Given the description of an element on the screen output the (x, y) to click on. 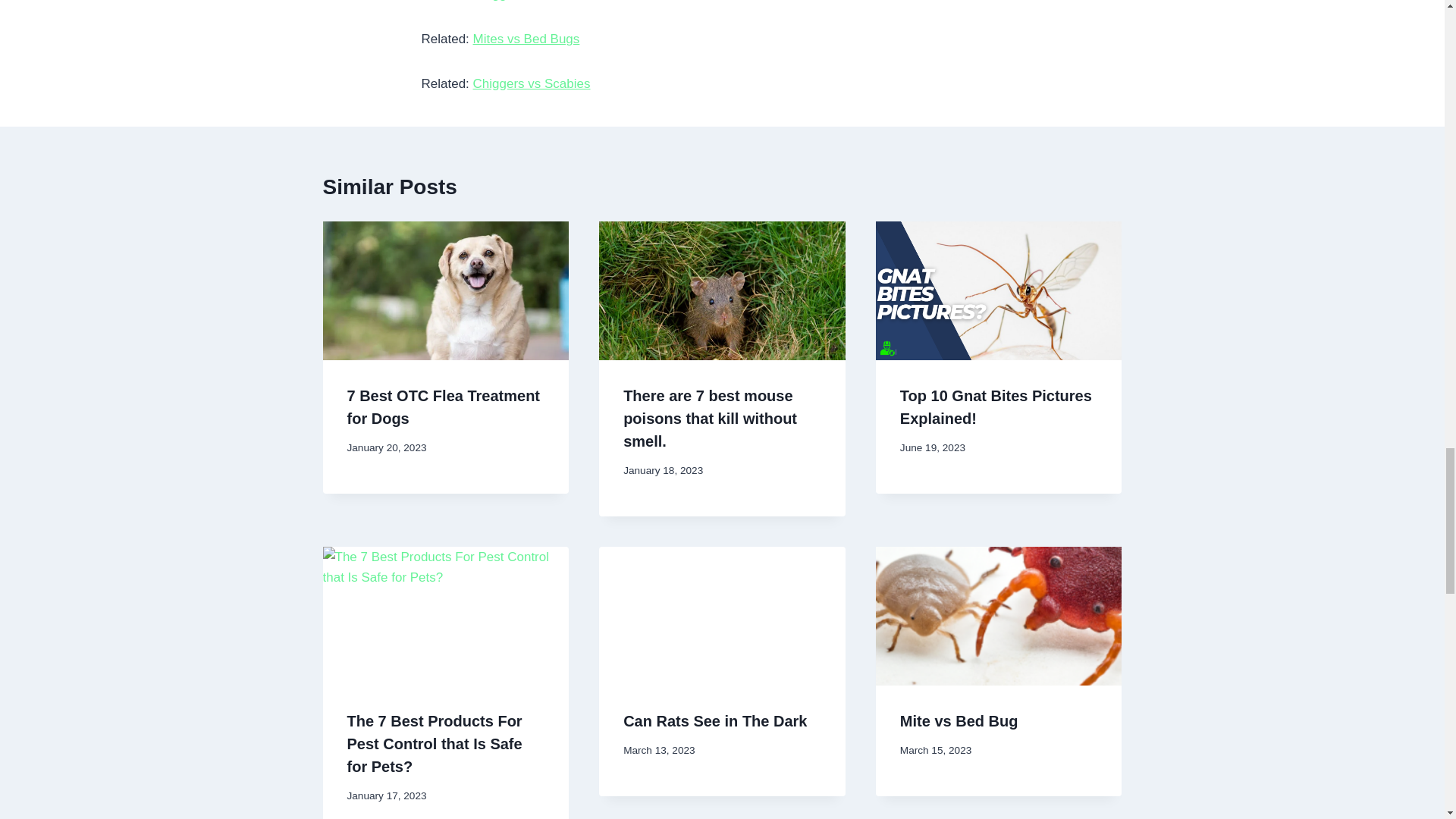
There are 7 best mouse poisons that kill without smell. (709, 418)
Chiggers vs Scabies (532, 83)
Mites vs Bed Bugs (526, 38)
Chiggers in Texas (524, 0)
Top 10 Gnat Bites Pictures Explained! (995, 406)
Can Rats See in The Dark (714, 720)
The 7 Best Products For Pest Control that Is Safe for Pets? (434, 743)
7 Best OTC Flea Treatment for Dogs (443, 406)
